Given the description of an element on the screen output the (x, y) to click on. 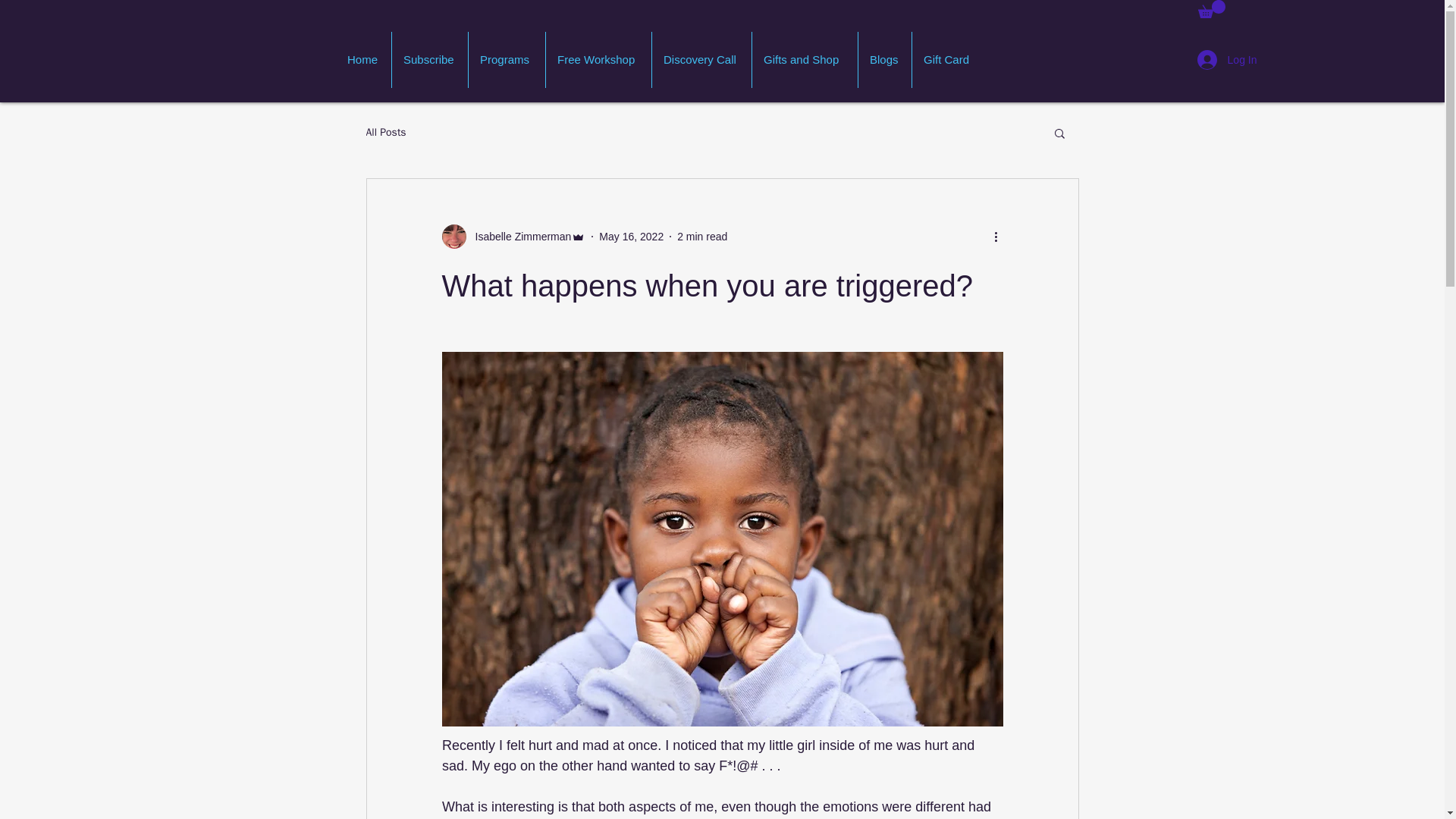
Gifts and Shop (804, 59)
Blogs (885, 59)
2 min read (701, 236)
Isabelle Zimmerman (517, 236)
All Posts (385, 132)
Home (363, 59)
Gift Card (948, 59)
Log In (1227, 59)
May 16, 2022 (630, 236)
Subscribe (429, 59)
Free Workshop (598, 59)
Programs (506, 59)
Isabelle Zimmerman (513, 236)
Discovery Call (701, 59)
